Given the description of an element on the screen output the (x, y) to click on. 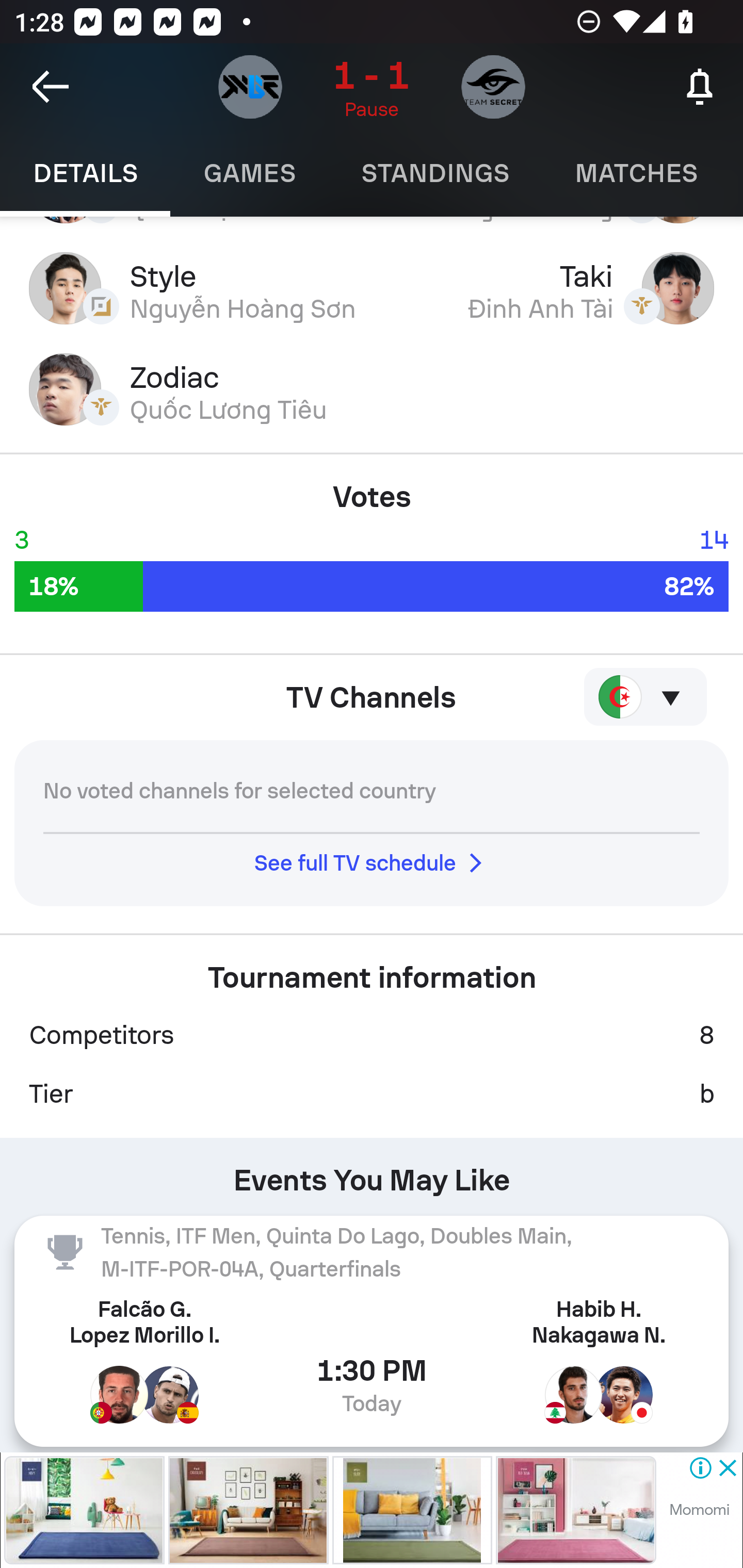
Navigate up (50, 86)
Games GAMES (249, 173)
Standings STANDINGS (434, 173)
Matches MATCHES (635, 173)
Style Taki Nguyễn Hoàng Sơn Đinh Anh Tài (371, 288)
Zodiac Quốc Lương Tiêu   (371, 389)
See full TV schedule (371, 863)
Events You May Like (371, 1173)
Momomi (699, 1509)
